Given the description of an element on the screen output the (x, y) to click on. 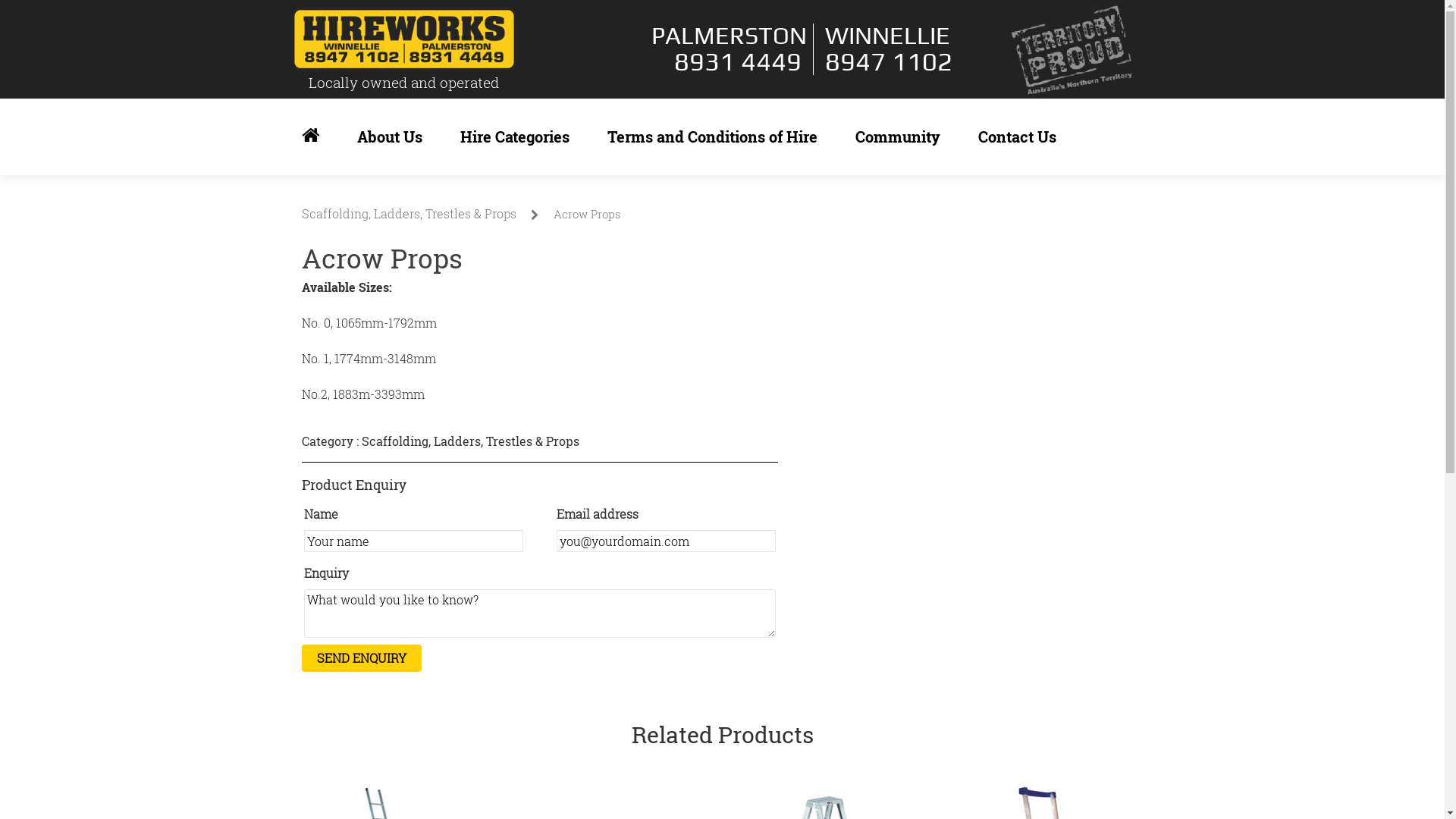
About Us Element type: text (388, 136)
Skip to content Element type: text (300, 98)
Send Enquiry Element type: text (361, 657)
Scaffolding, Ladders, Trestles & Props Element type: text (469, 440)
Locally owned and operated Element type: text (403, 49)
Scaffolding, Ladders, Trestles & Props Element type: text (408, 213)
Hire Categories Element type: text (513, 136)
Terms and Conditions of Hire Element type: text (711, 136)
Contact Us Element type: text (1017, 136)
Community Element type: text (897, 136)
